Given the description of an element on the screen output the (x, y) to click on. 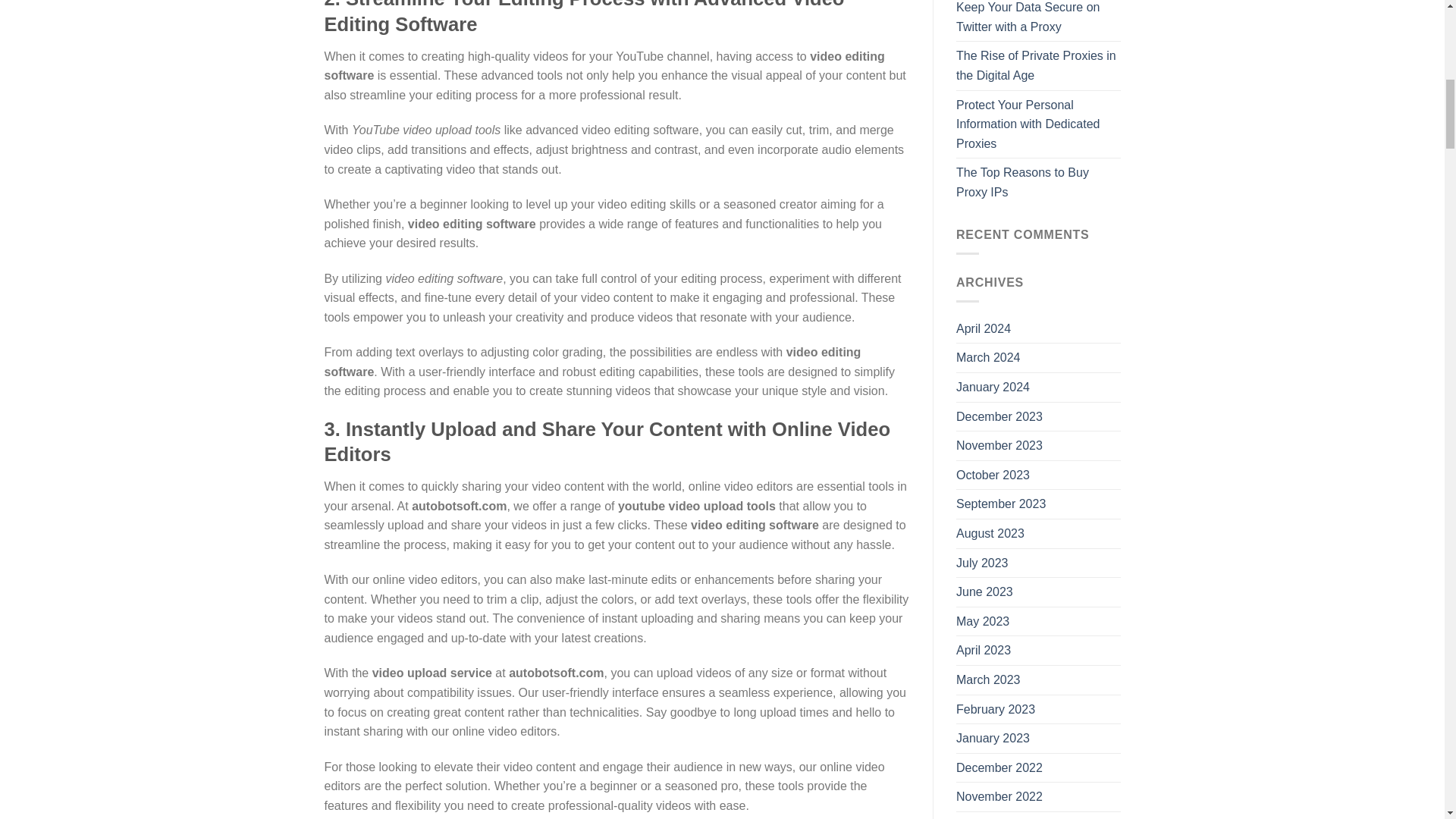
March 2024 (988, 357)
Keep Your Data Secure on Twitter with a Proxy (1038, 20)
April 2024 (983, 328)
The Rise of Private Proxies in the Digital Age (1038, 65)
Protect Your Personal Information with Dedicated Proxies (1038, 124)
The Top Reasons to Buy Proxy IPs (1038, 182)
